Given the description of an element on the screen output the (x, y) to click on. 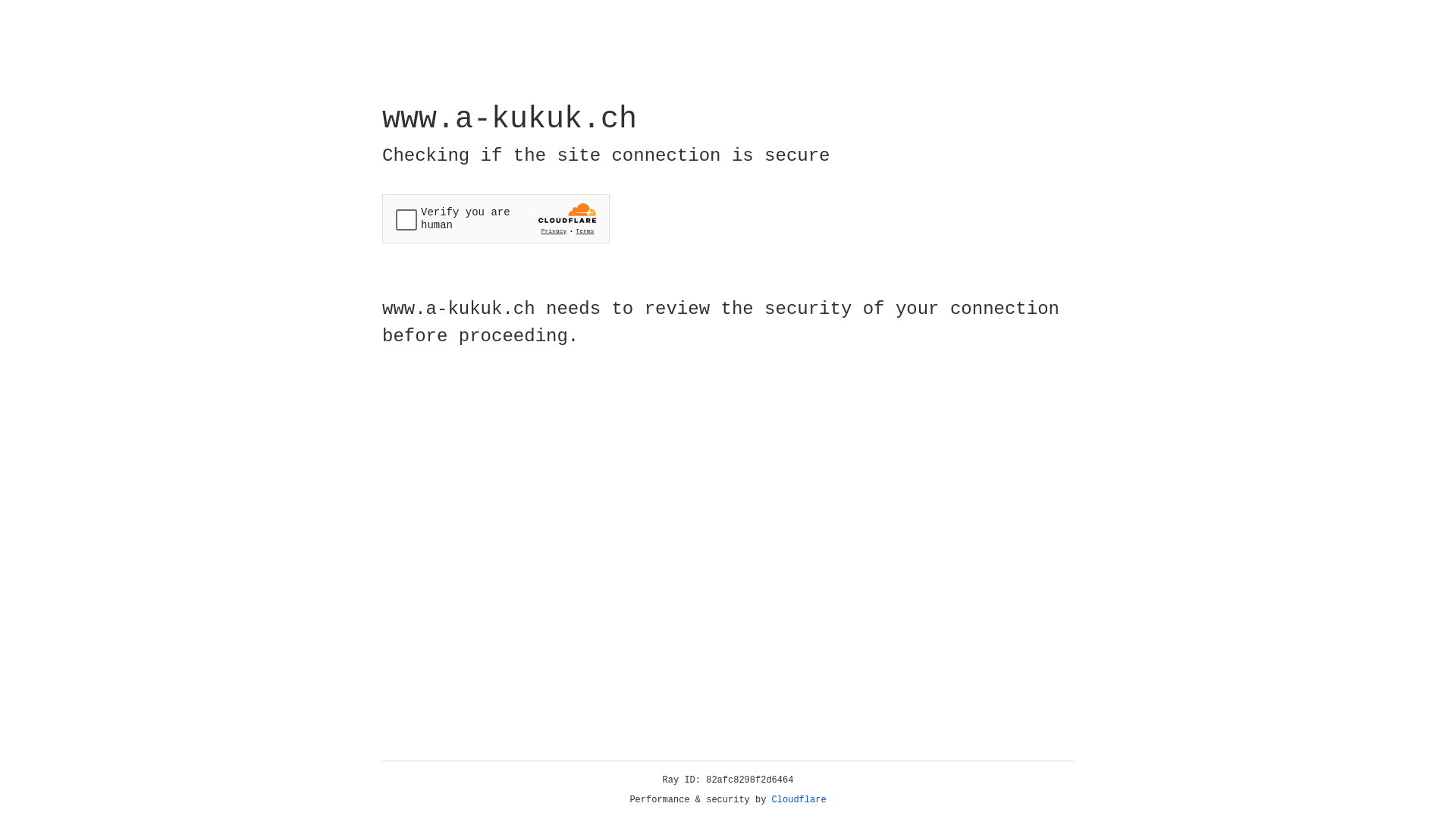
Widget containing a Cloudflare security challenge Element type: hover (495, 218)
Cloudflare Element type: text (798, 799)
